Given the description of an element on the screen output the (x, y) to click on. 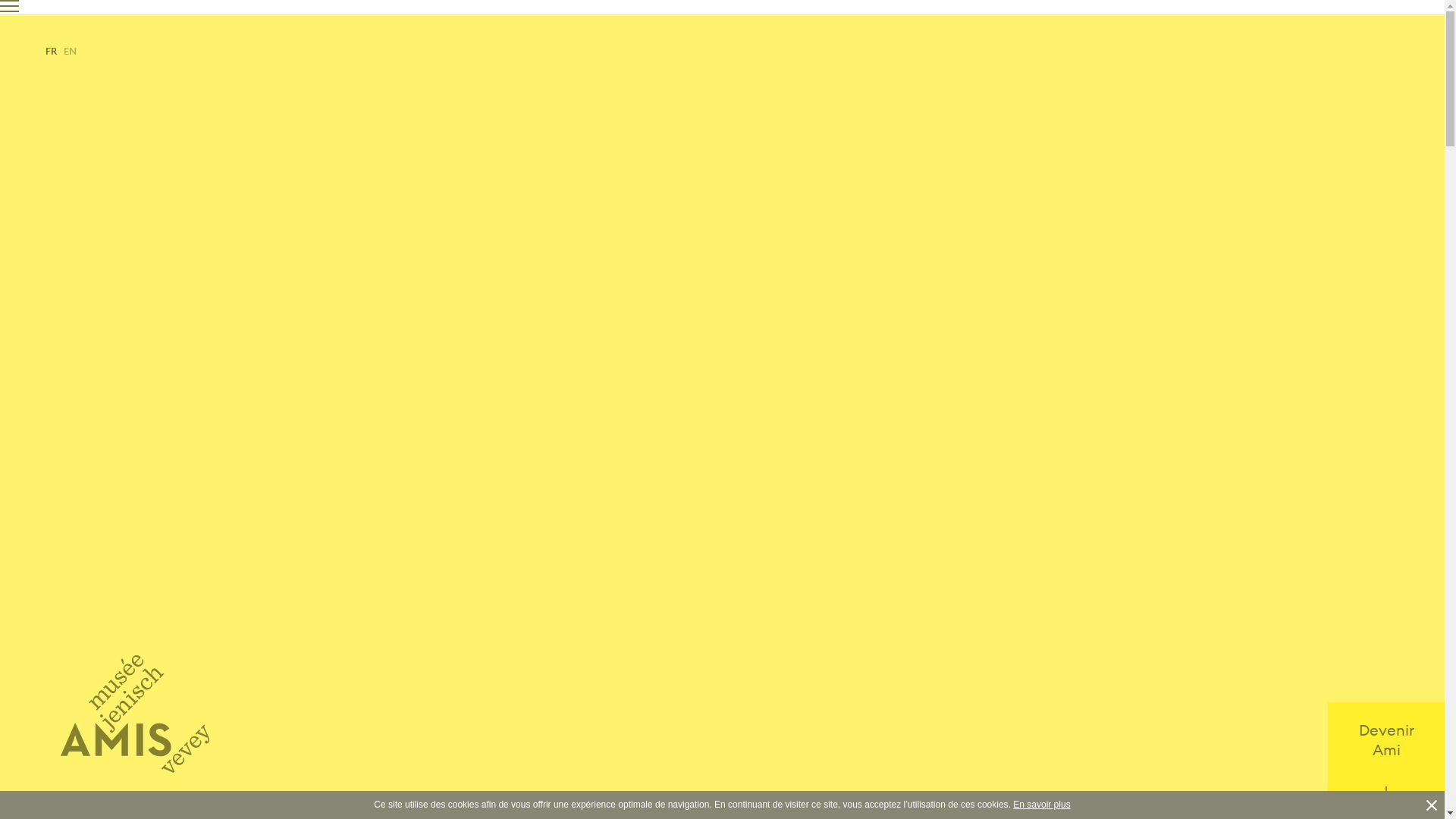
En savoir plus Element type: text (1041, 804)
EN Element type: text (69, 49)
